Given the description of an element on the screen output the (x, y) to click on. 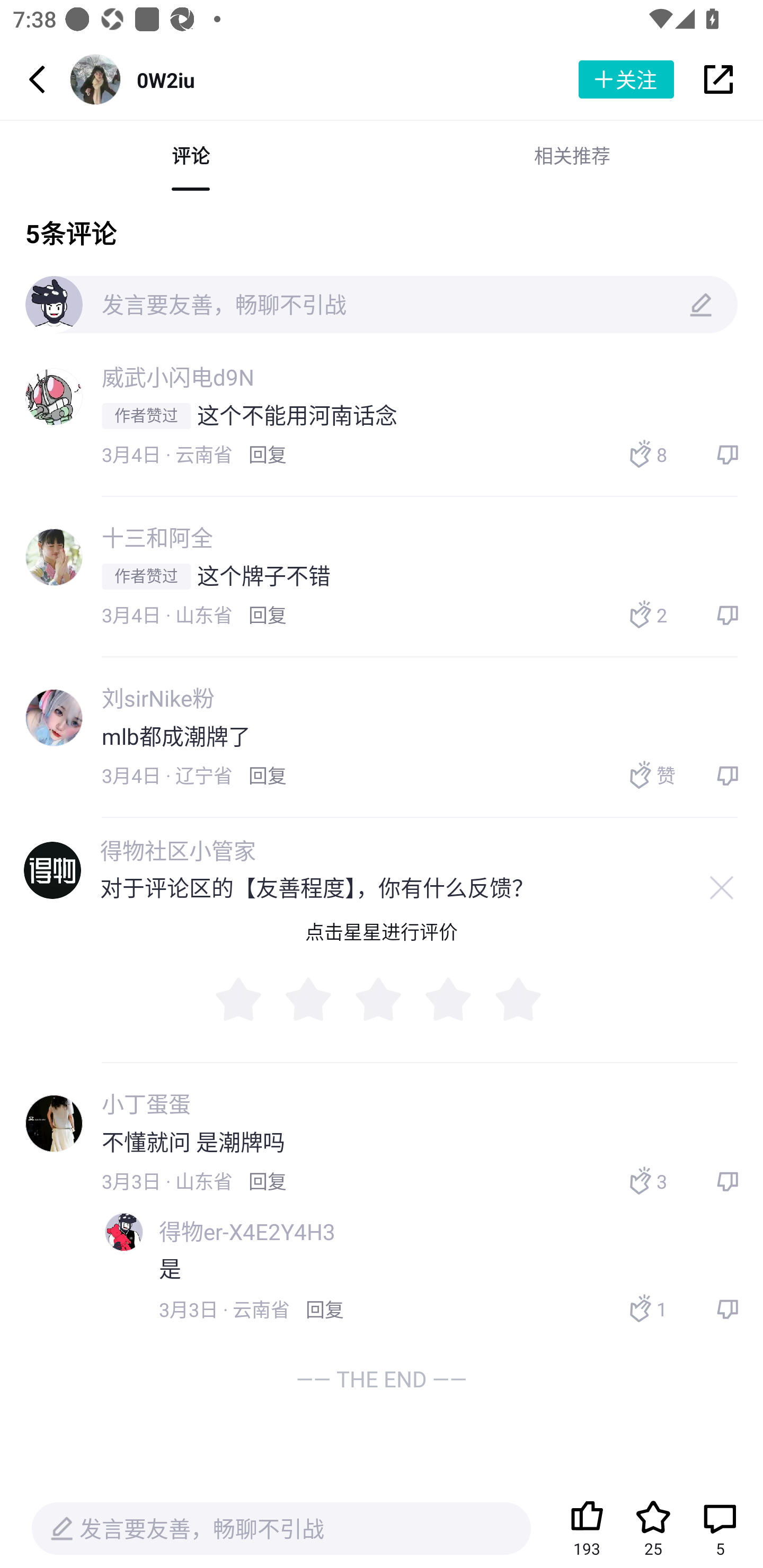
关注 (625, 79)
0W2iu (165, 79)
相关推荐 (572, 155)
发言要友善，畅聊不引战 (381, 303)
威武小闪电d9N (177, 377)
十三和阿全 (156, 536)
刘sirNike粉 (157, 697)
得物社区小管家 (177, 850)
小丁蛋蛋 (145, 1103)
得物er-X4E2Y4H3 是 3月3日 · 云南省 回复 1 (430, 1272)
得物er-X4E2Y4H3 (246, 1231)
发言要友善，畅聊不引战 (281, 1528)
